Given the description of an element on the screen output the (x, y) to click on. 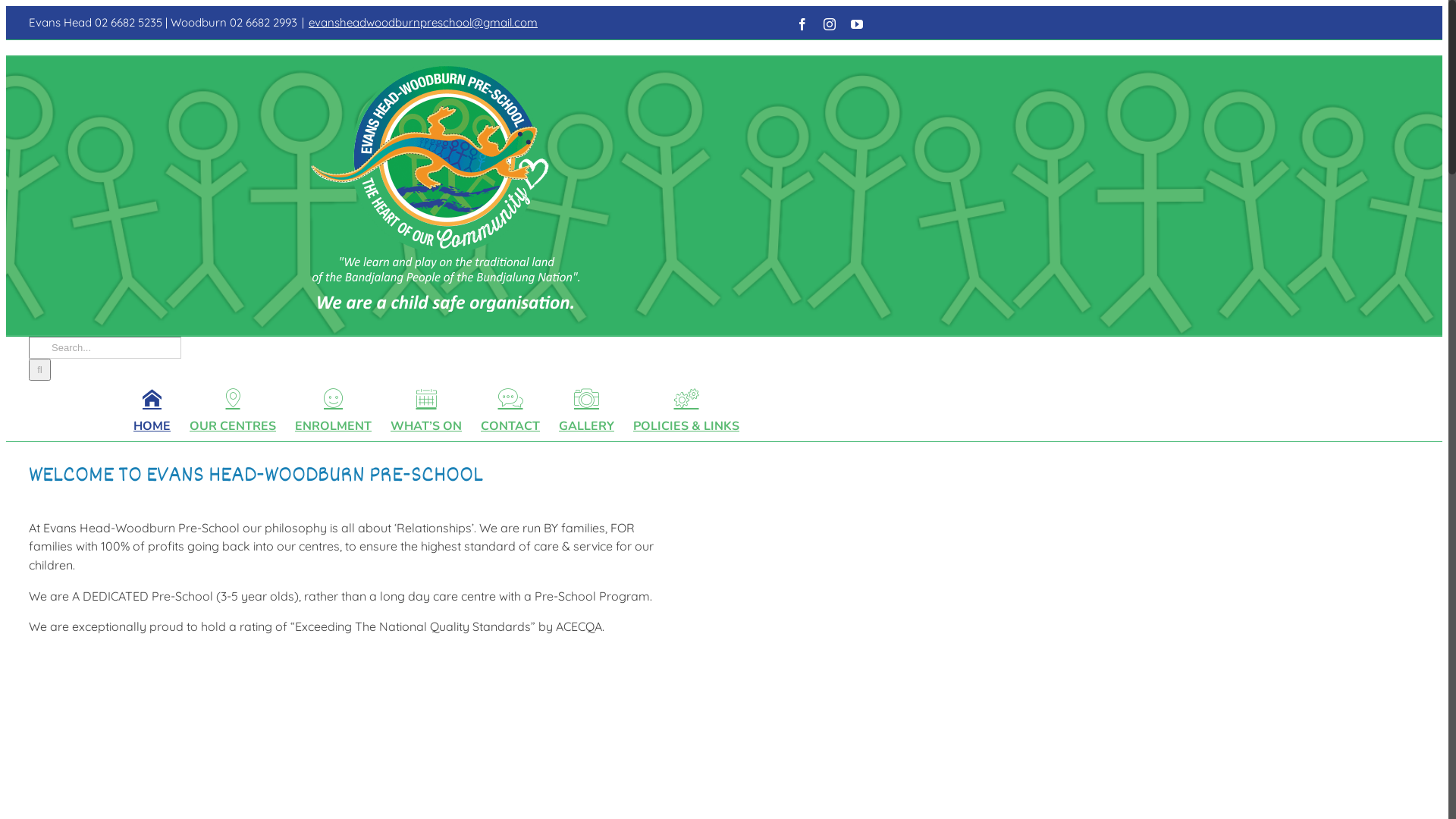
YouTube Element type: text (856, 24)
HOME Element type: text (151, 410)
Skip to content Element type: text (5, 5)
Instagram Element type: text (829, 24)
OUR CENTRES Element type: text (232, 410)
POLICIES & LINKS Element type: text (686, 410)
ENROLMENT Element type: text (332, 410)
CONTACT Element type: text (509, 410)
evansheadwoodburnpreschool@gmail.com Element type: text (422, 22)
GALLERY Element type: text (586, 410)
Facebook Element type: text (802, 24)
